Given the description of an element on the screen output the (x, y) to click on. 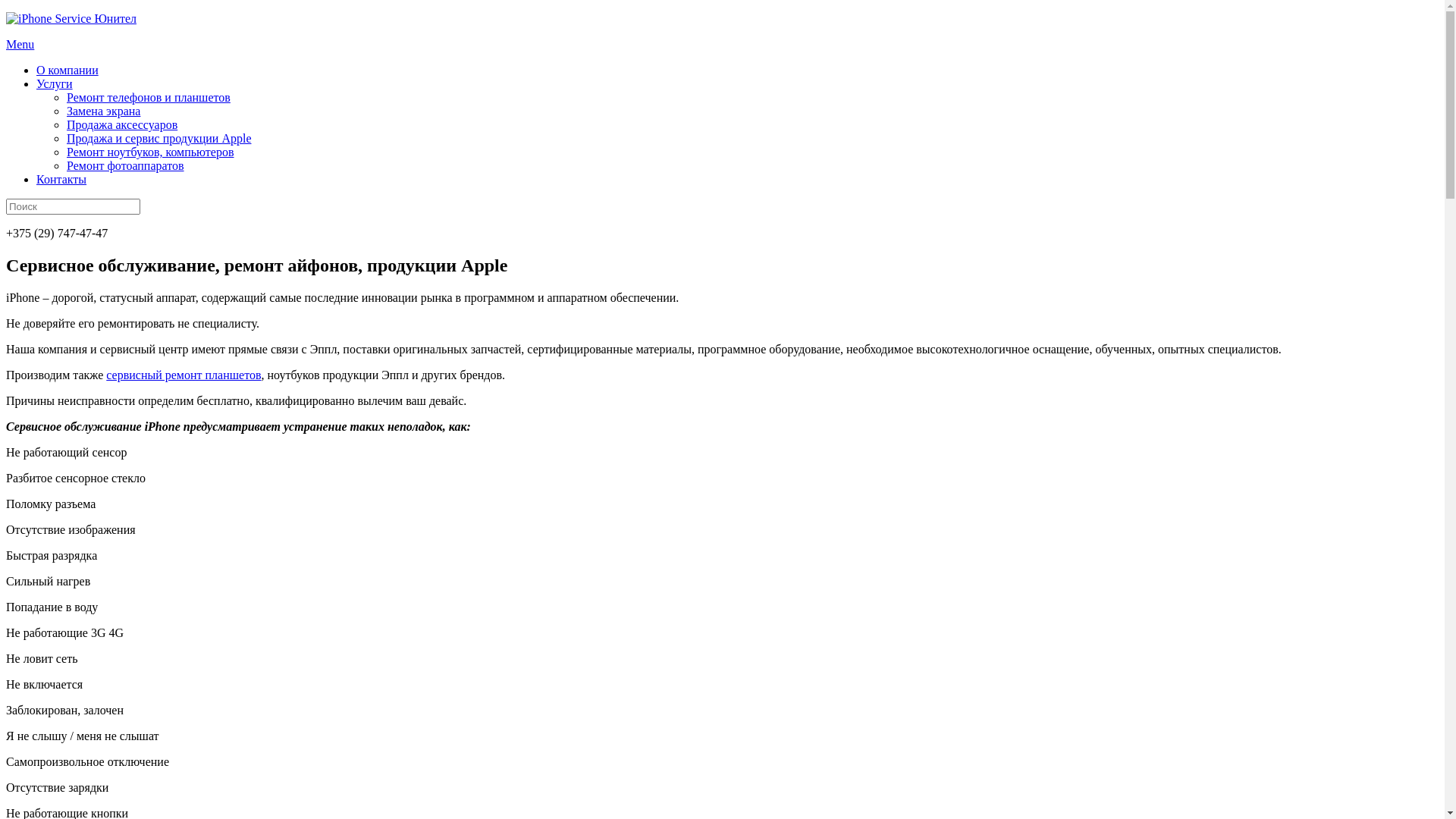
Menu Element type: text (20, 43)
